Given the description of an element on the screen output the (x, y) to click on. 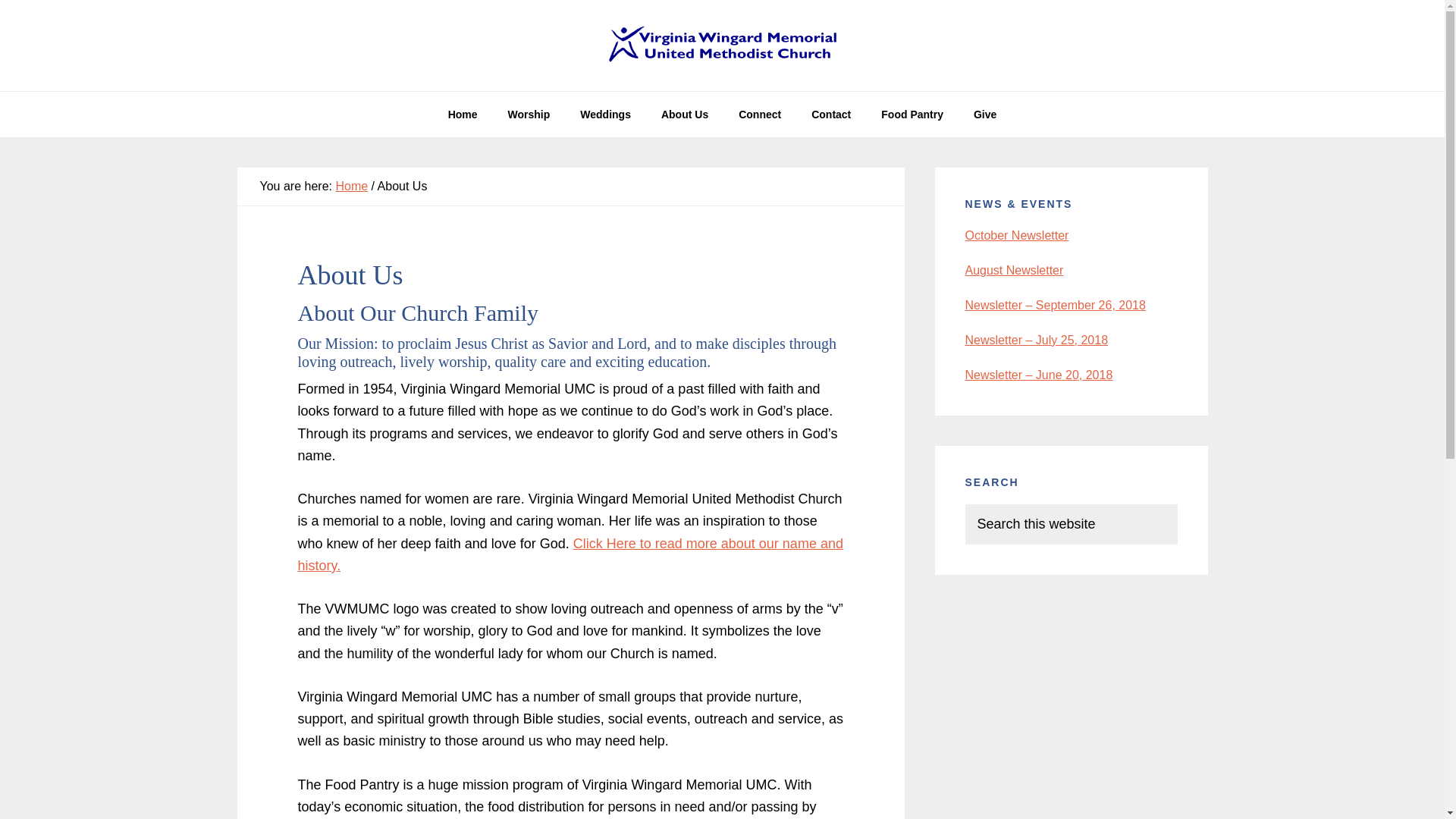
August Newsletter (1012, 269)
Connect (759, 114)
About Us (684, 114)
Home (351, 185)
Contact (831, 114)
Virginia Wingard Memorial United Methodist Church (721, 45)
Food Pantry (912, 114)
Weddings (605, 114)
Click Here to read more about our name and history. (570, 554)
Give (984, 114)
Home (462, 114)
